Given the description of an element on the screen output the (x, y) to click on. 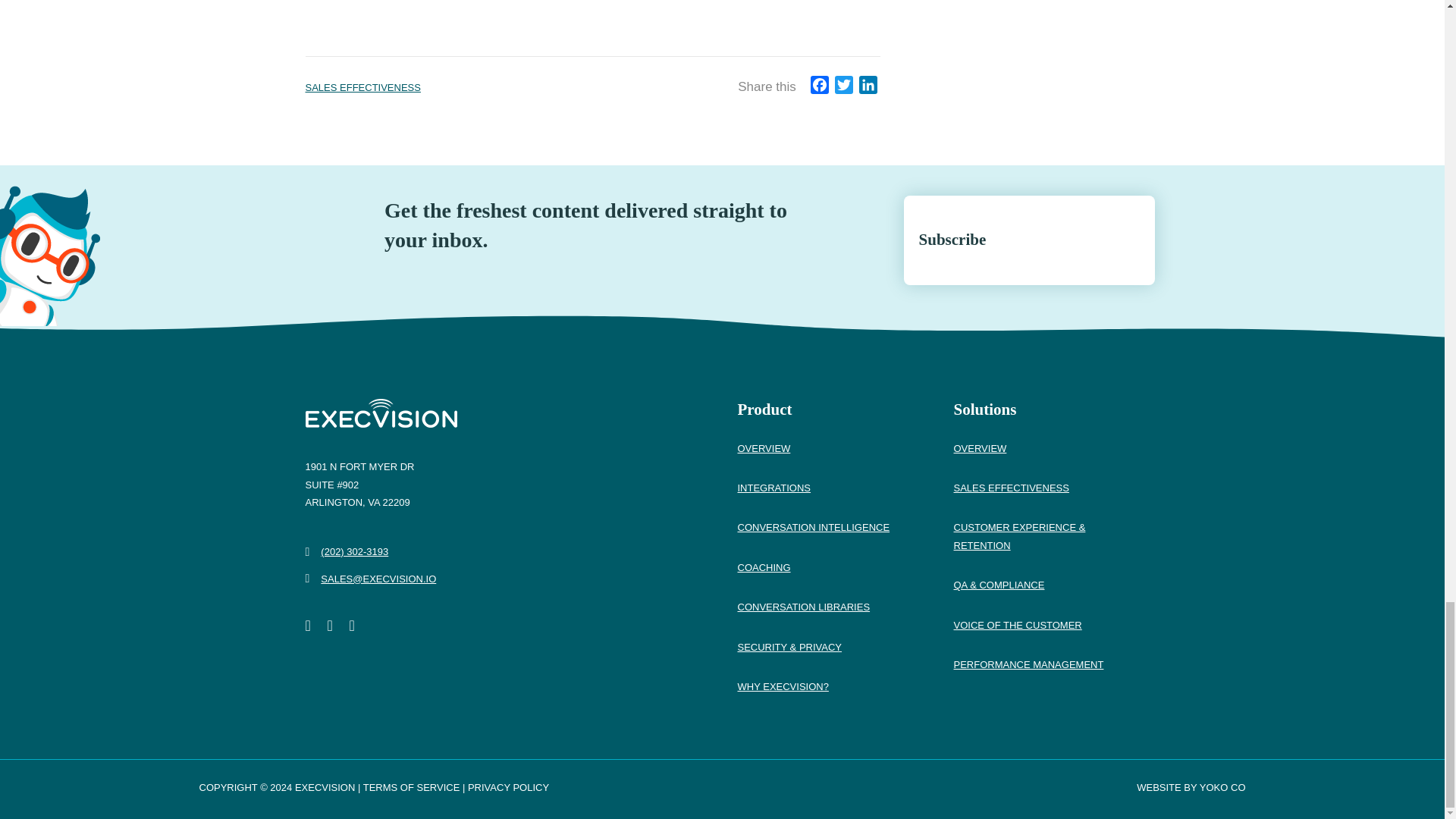
LinkedIn (867, 87)
Facebook (818, 87)
execvision-logo-white (380, 412)
Twitter (843, 87)
